Given the description of an element on the screen output the (x, y) to click on. 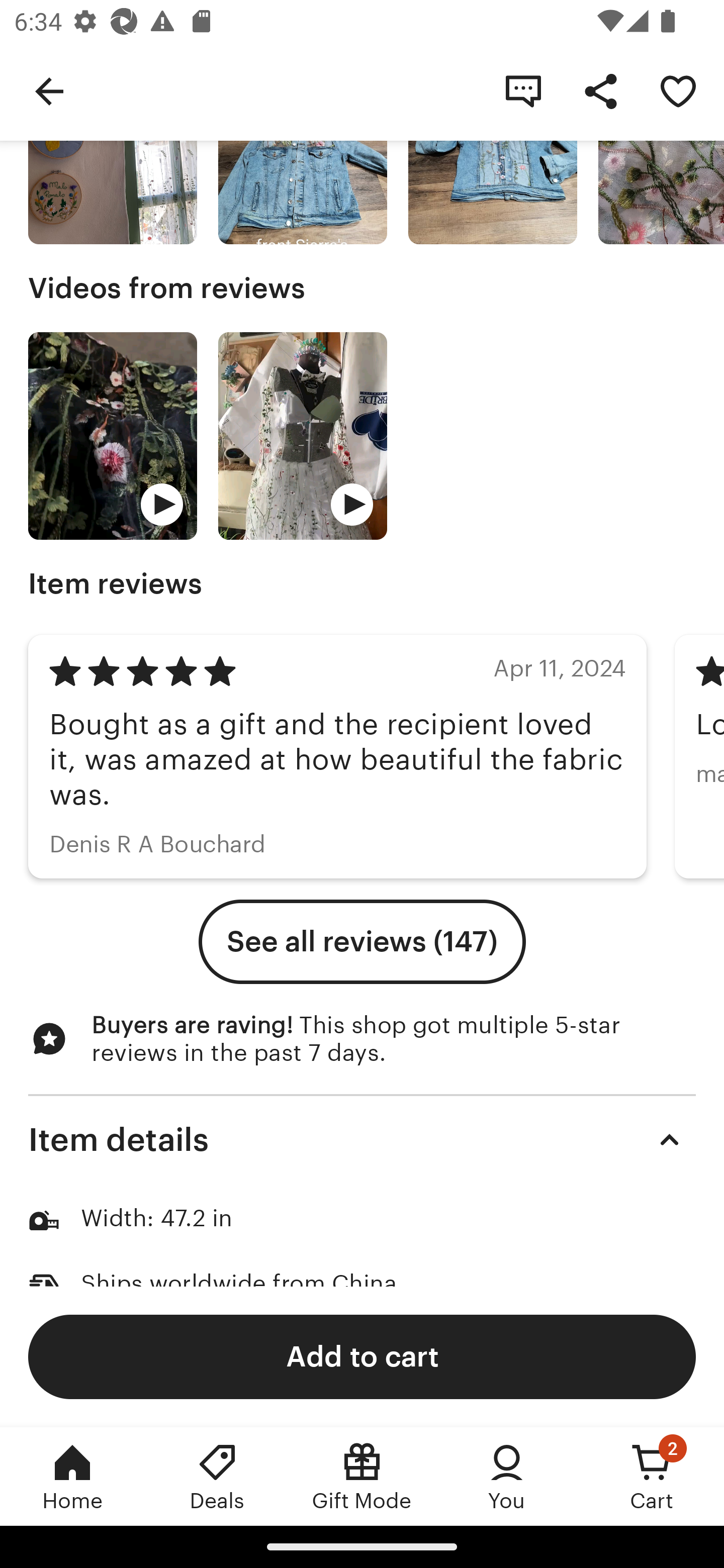
Navigate up (49, 90)
Contact shop (523, 90)
Share (600, 90)
Photo from review (112, 159)
Photo from review (302, 159)
Photo from review (492, 159)
See all reviews (147) (361, 942)
Item details (362, 1139)
Add to cart (361, 1355)
Deals (216, 1475)
Gift Mode (361, 1475)
You (506, 1475)
Cart, 2 new notifications Cart (651, 1475)
